Given the description of an element on the screen output the (x, y) to click on. 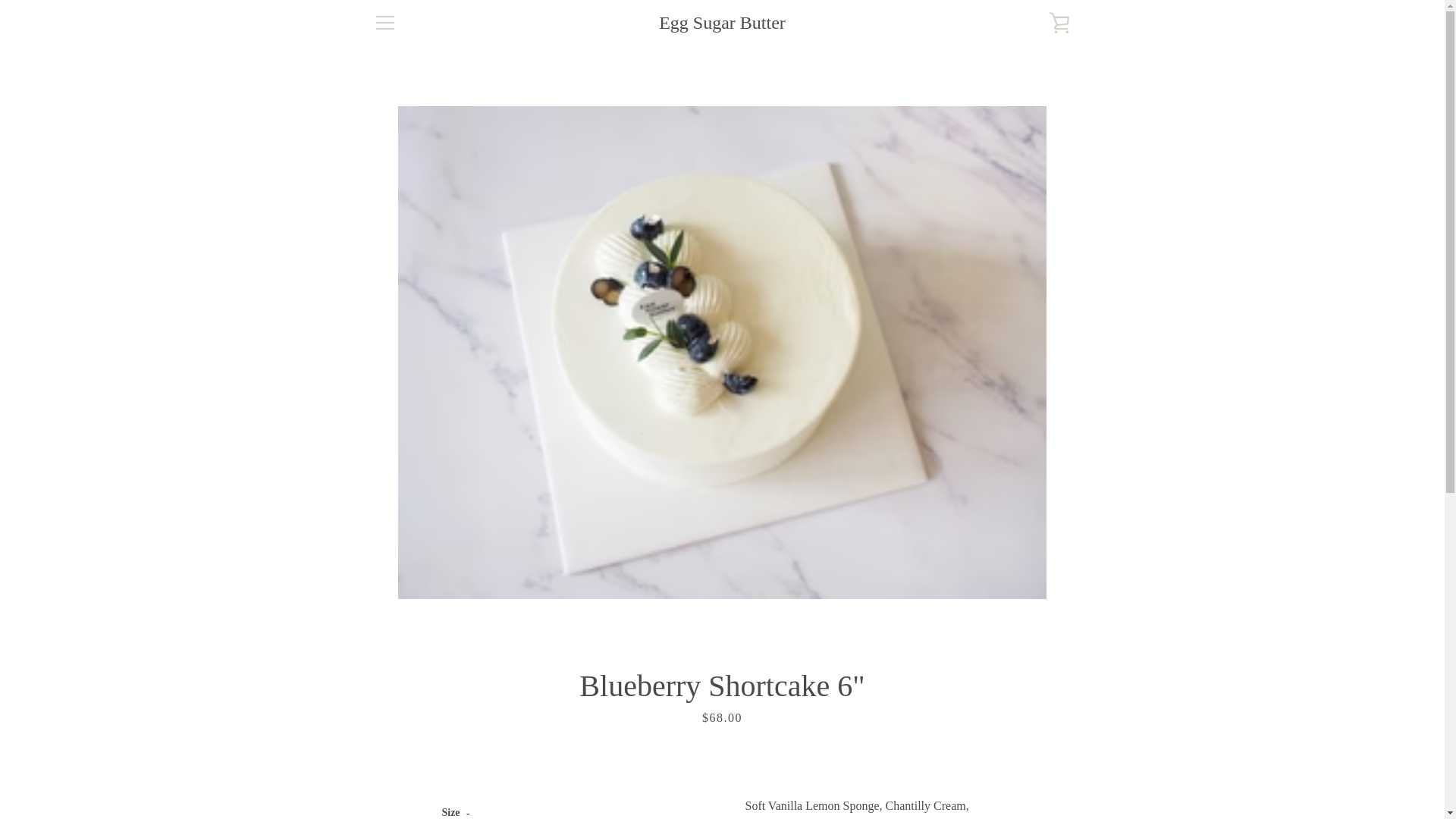
VIEW CART (1059, 22)
MENU (384, 22)
Egg Sugar Butter (722, 23)
